Given the description of an element on the screen output the (x, y) to click on. 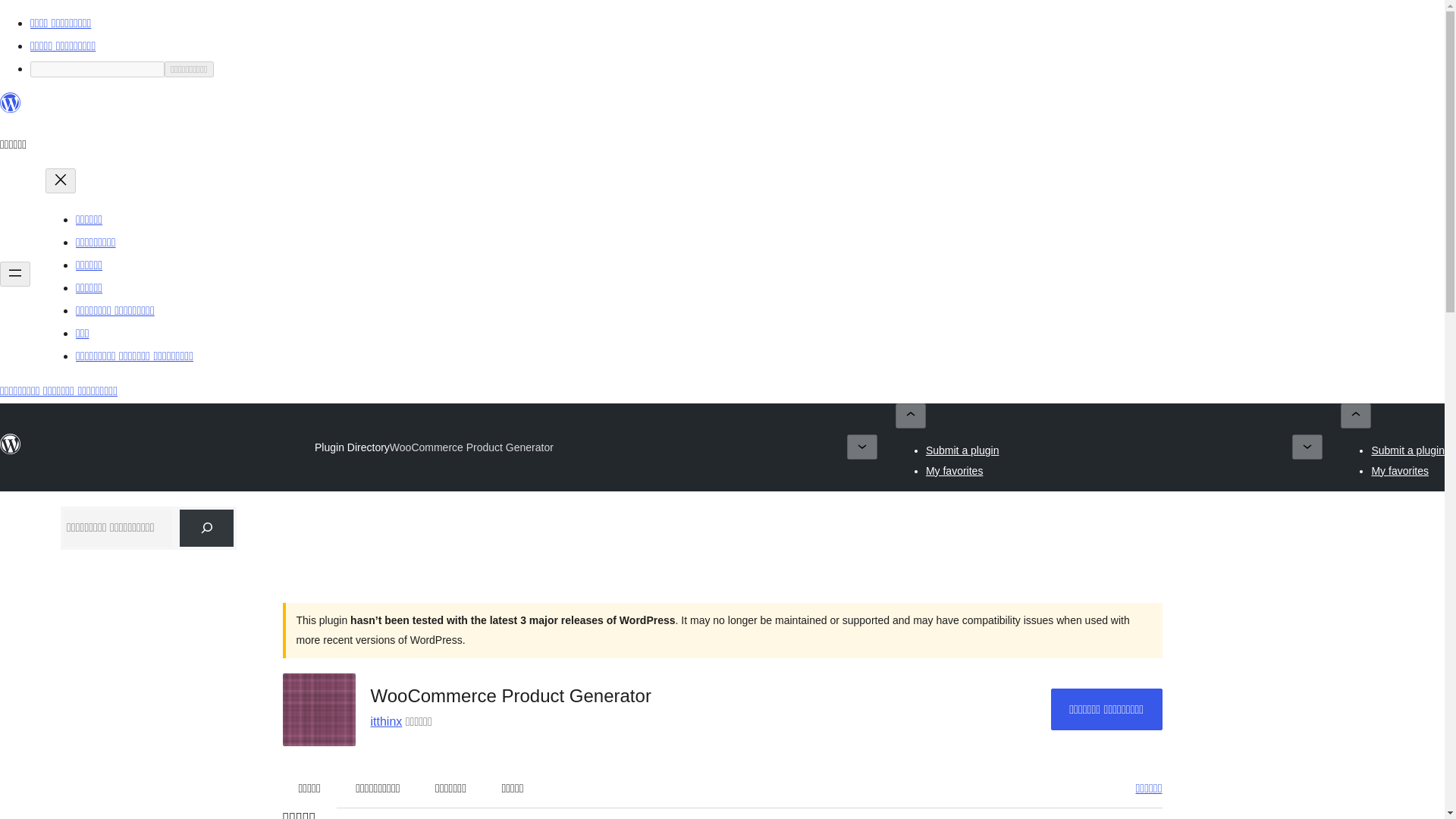
WooCommerce Product Generator (471, 447)
My favorites (954, 469)
Plugin Directory (352, 447)
itthinx (385, 721)
My favorites (1399, 469)
WordPress.org (10, 451)
Submit a plugin (962, 450)
WordPress.org (10, 444)
WordPress.org (10, 102)
WordPress.org (10, 109)
